Given the description of an element on the screen output the (x, y) to click on. 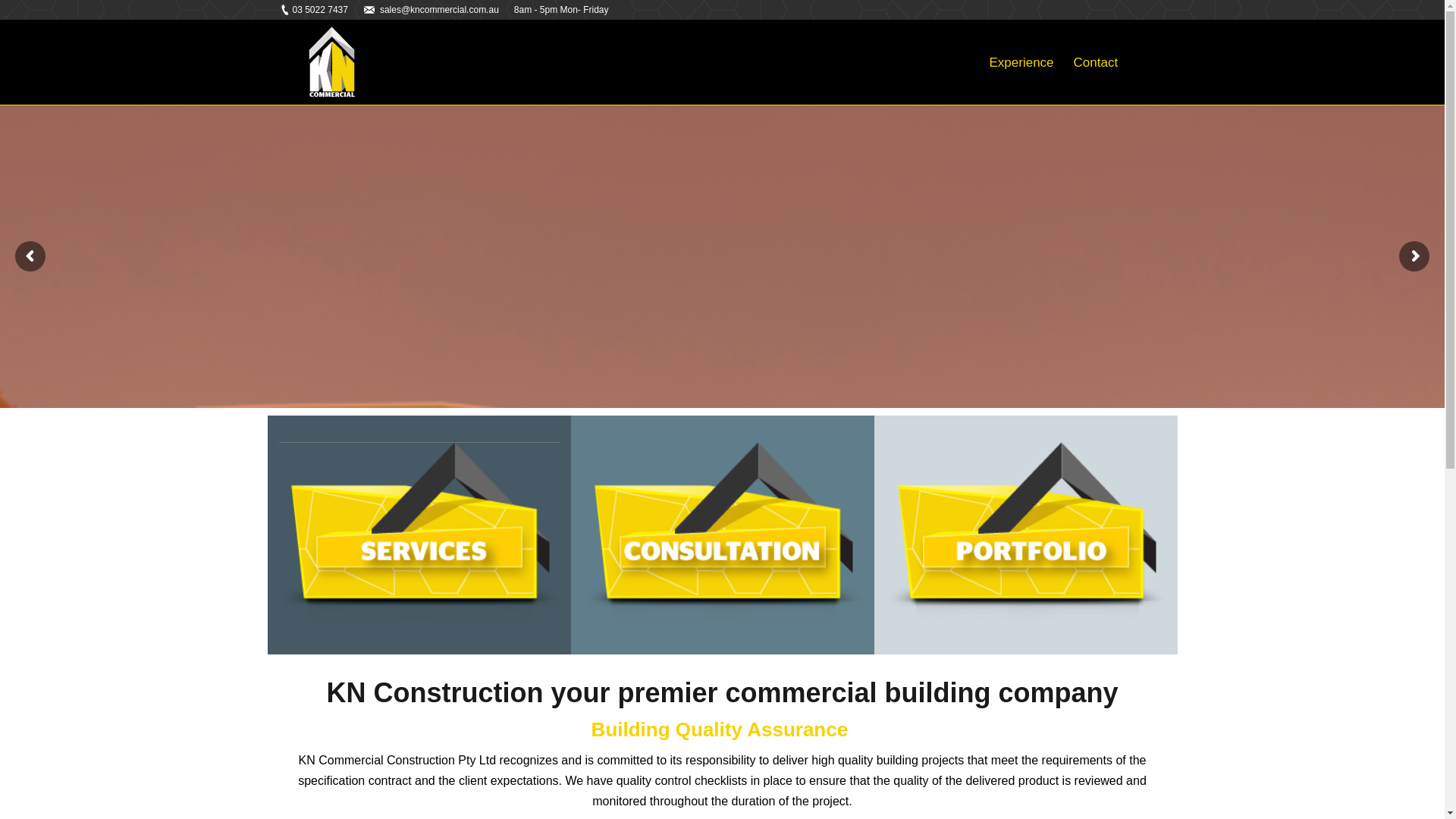
Contact Element type: text (1095, 62)
  Element type: text (1141, 62)
Go! Element type: text (19, 15)
SERVICES Element type: text (419, 421)
Experience Element type: text (1020, 62)
